Given the description of an element on the screen output the (x, y) to click on. 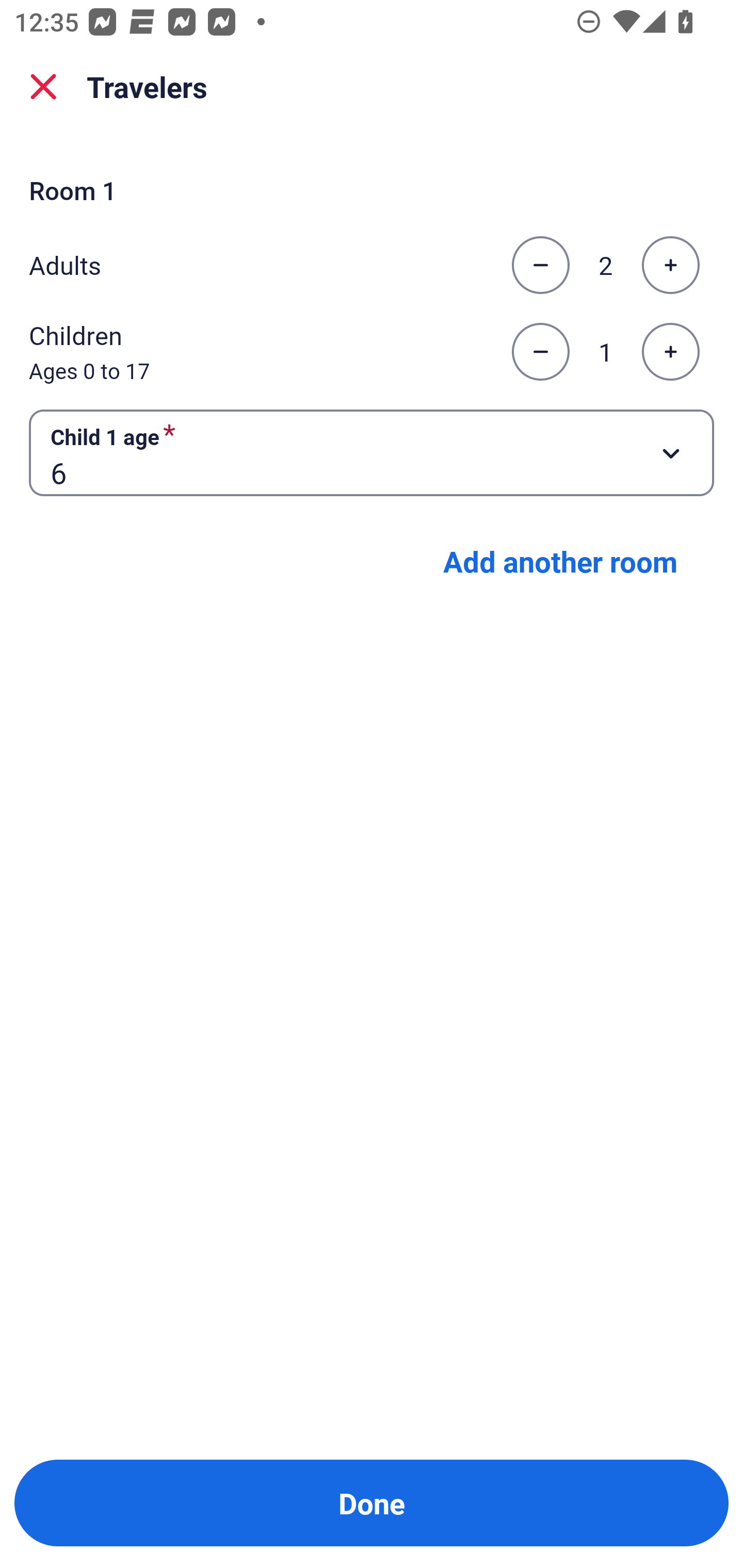
close (43, 86)
Decrease the number of adults (540, 264)
Increase the number of adults (670, 264)
Decrease the number of children (540, 351)
Increase the number of children (670, 351)
Child 1 age required Button 6 (371, 452)
Add another room (560, 561)
Done (371, 1502)
